Given the description of an element on the screen output the (x, y) to click on. 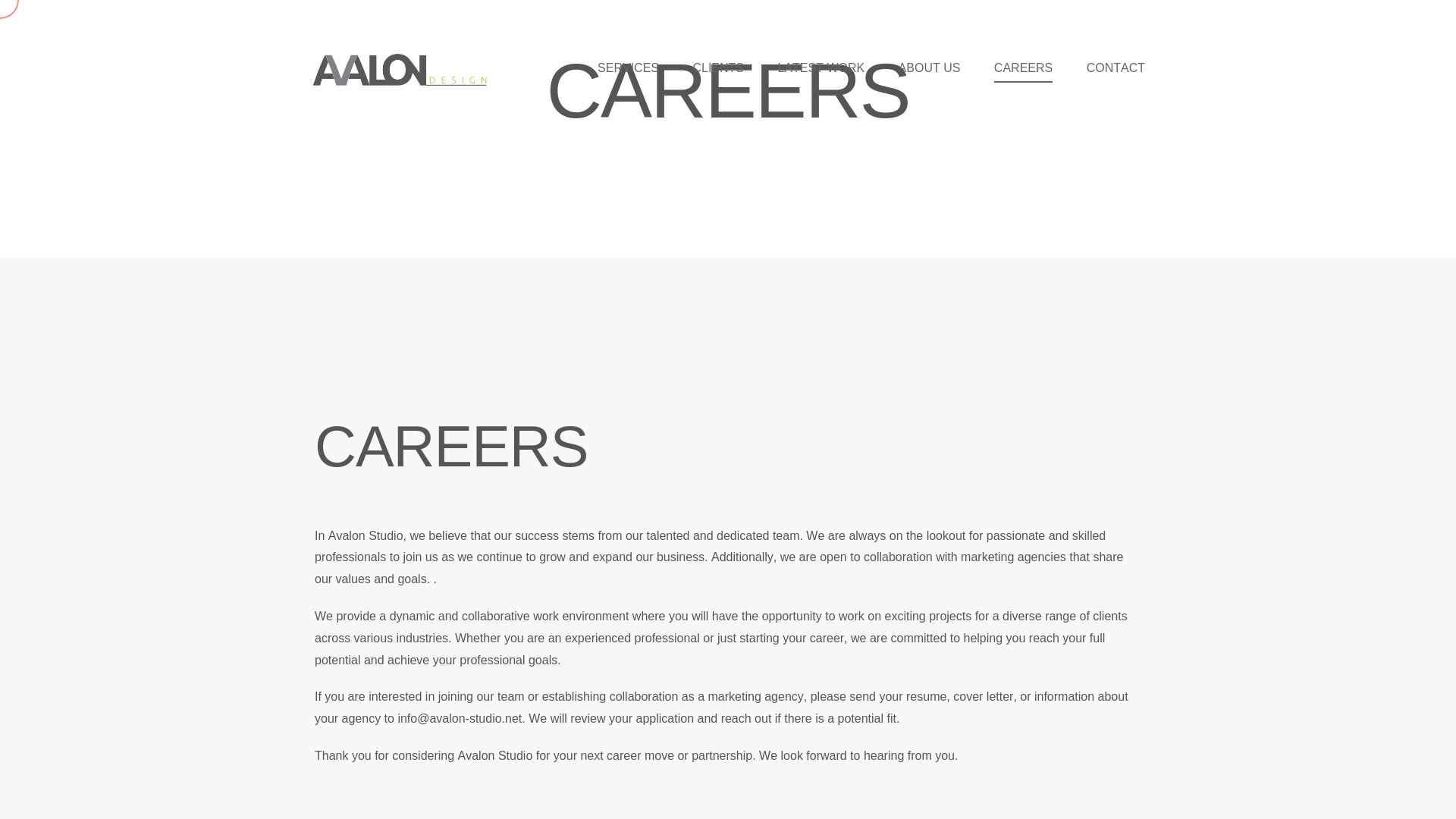
LATEST WORK (820, 68)
CAREERS (727, 445)
CONTACT (1115, 68)
CLIENTS (717, 68)
ABOUT US (929, 68)
CAREERS (1022, 68)
SERVICES (628, 68)
